Given the description of an element on the screen output the (x, y) to click on. 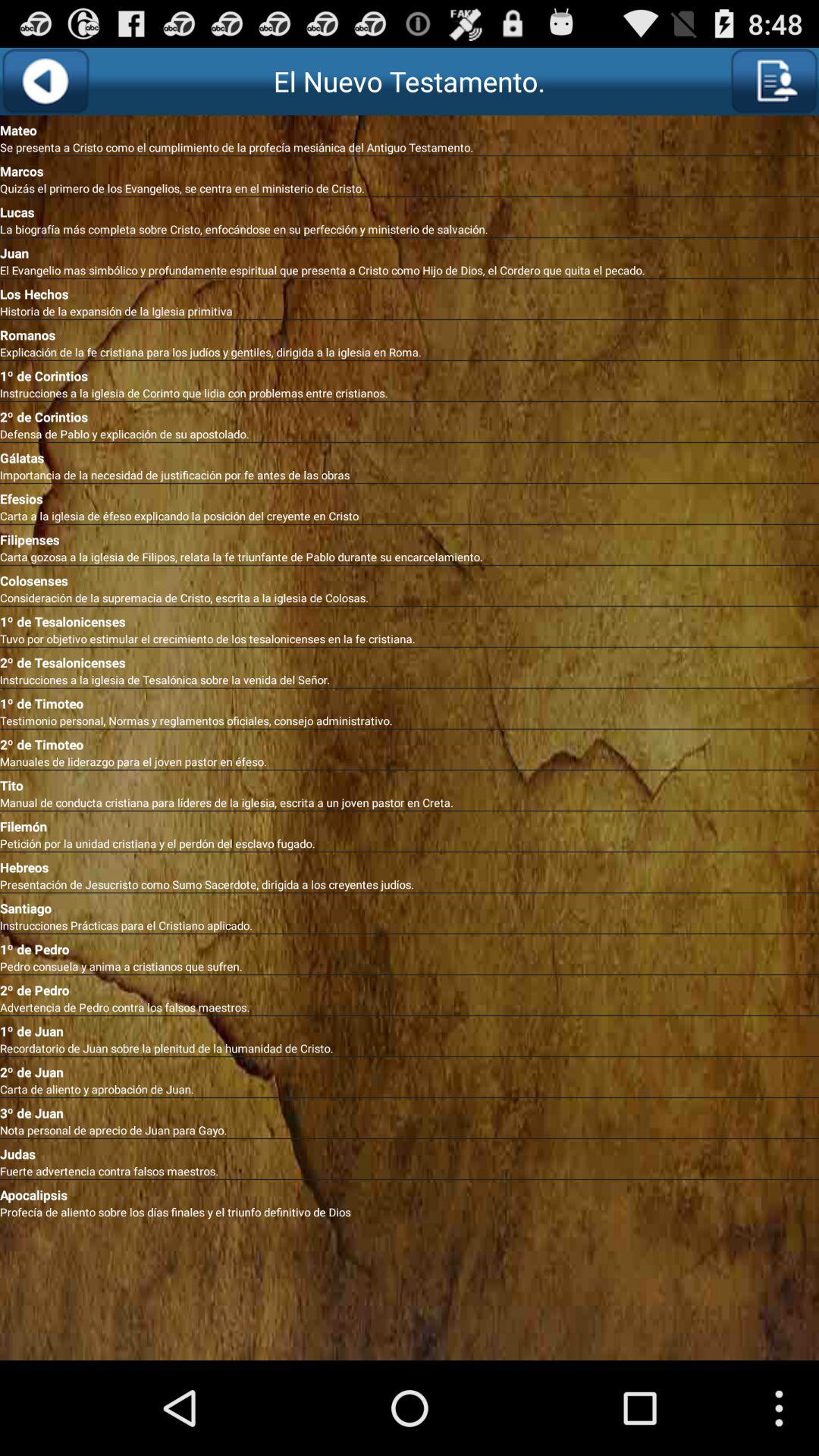
click the app above the mateo icon (773, 81)
